Given the description of an element on the screen output the (x, y) to click on. 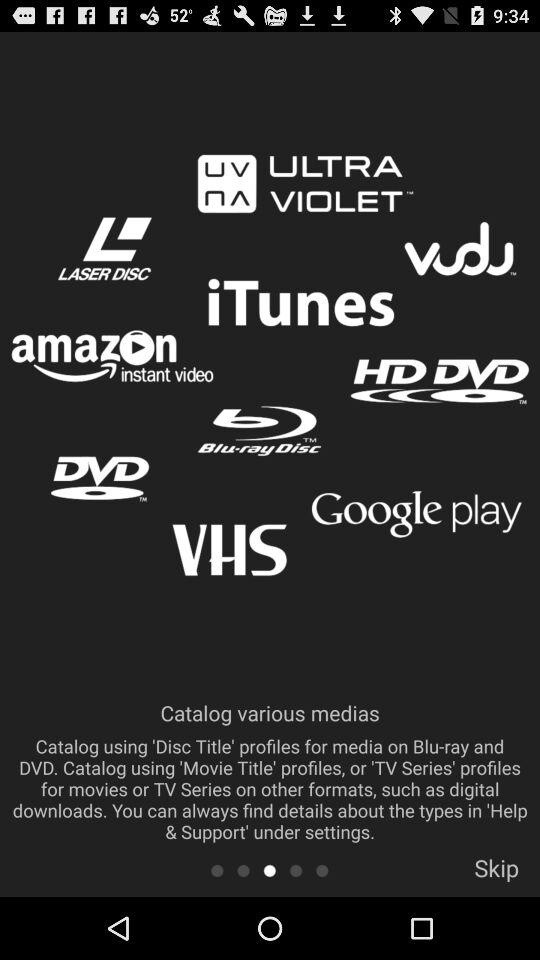
tap the item at the bottom right corner (496, 873)
